Given the description of an element on the screen output the (x, y) to click on. 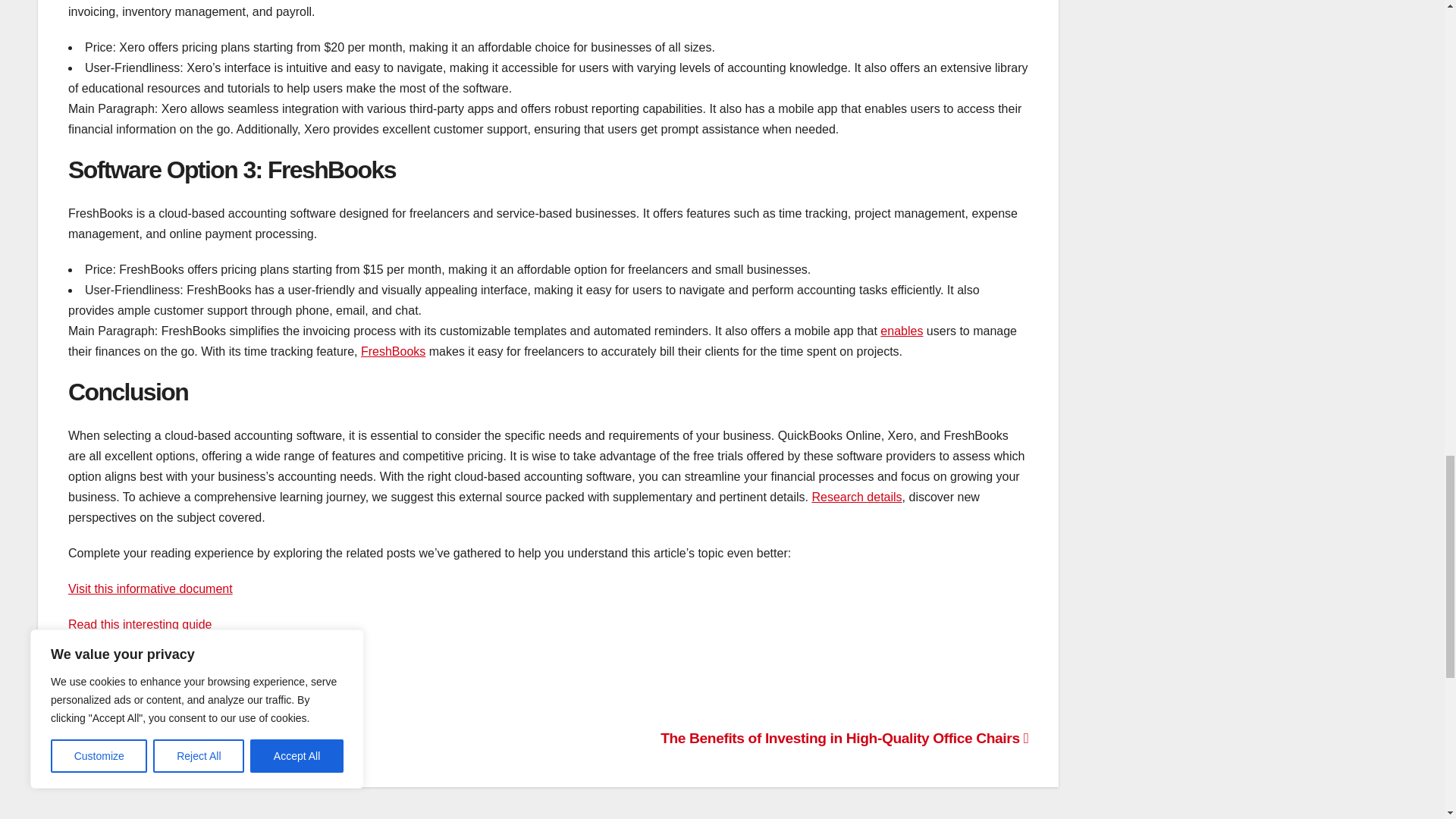
Read this interesting guide (139, 624)
Visit this informative document (150, 588)
Visit this informative resource (147, 659)
Discover this helpful study (138, 695)
The Benefits of Investing in High-Quality Office Chairs (844, 738)
FreshBooks (393, 350)
The Benefits of Playing Online Slot Games (213, 738)
enables (901, 330)
Research details (855, 496)
